Given the description of an element on the screen output the (x, y) to click on. 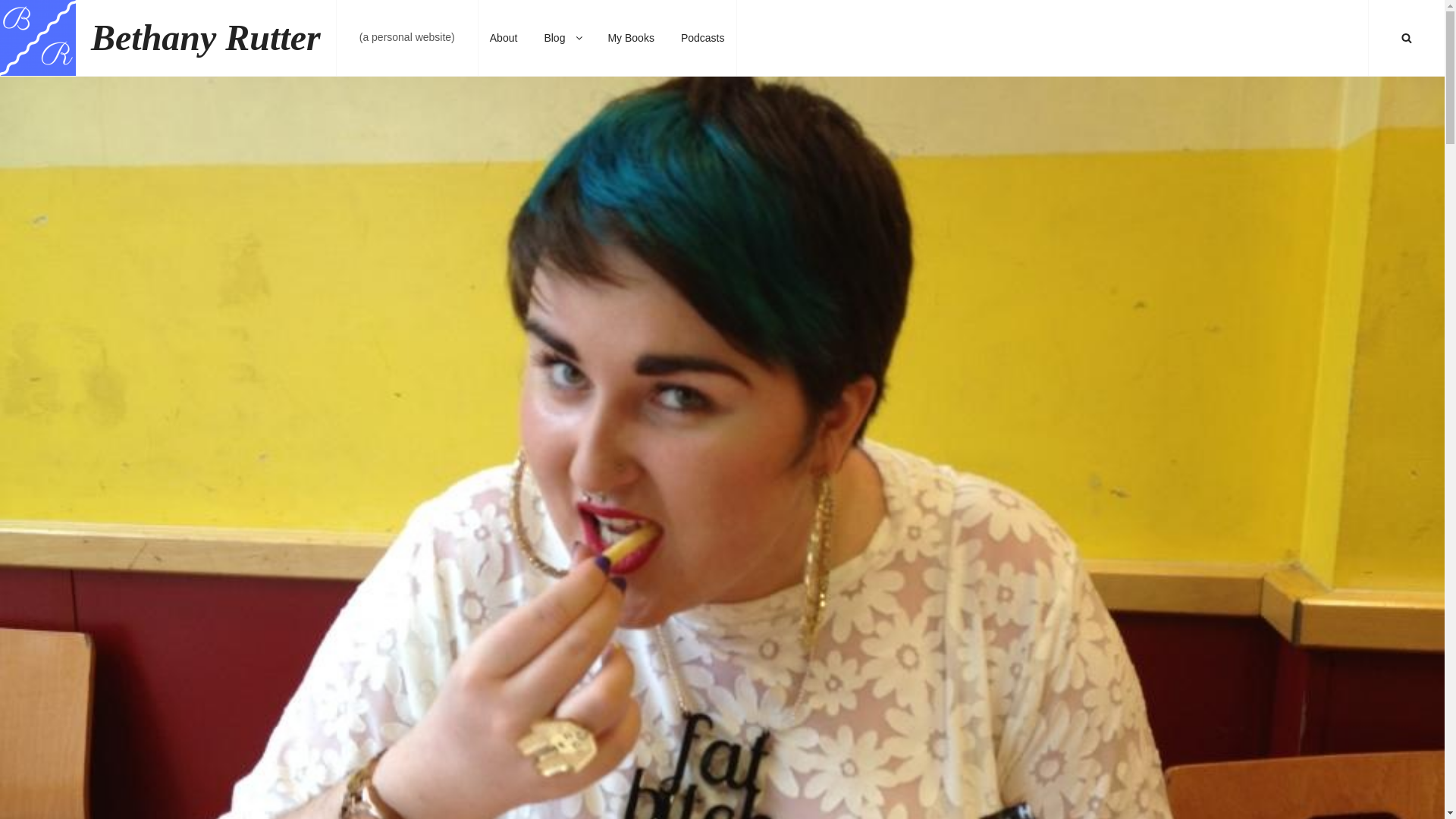
SEARCH (1407, 37)
My Books (630, 38)
Bethany Rutter (205, 37)
